Given the description of an element on the screen output the (x, y) to click on. 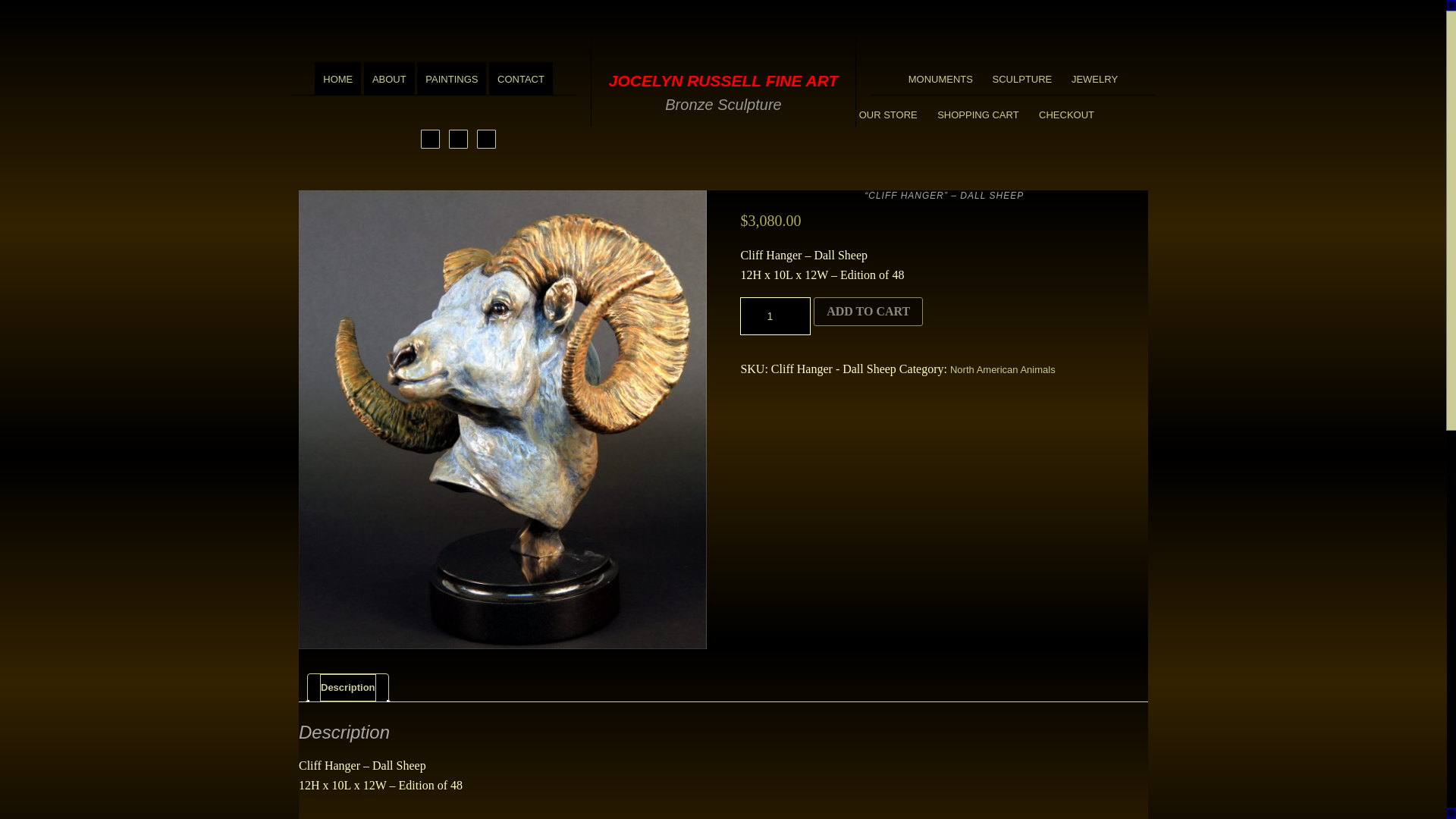
JEWELRY (1093, 78)
North American Animals (1002, 369)
ADD TO CART (868, 311)
JOCELYN RUSSELL FINE ART (723, 80)
HOME (337, 78)
1 (774, 315)
ABOUT (389, 78)
MONUMENTS (940, 78)
SHOPPING CART (977, 114)
SCULPTURE (1022, 78)
OUR STORE (888, 114)
CHECKOUT (1066, 114)
PAINTINGS (451, 78)
CONTACT (521, 78)
